Given the description of an element on the screen output the (x, y) to click on. 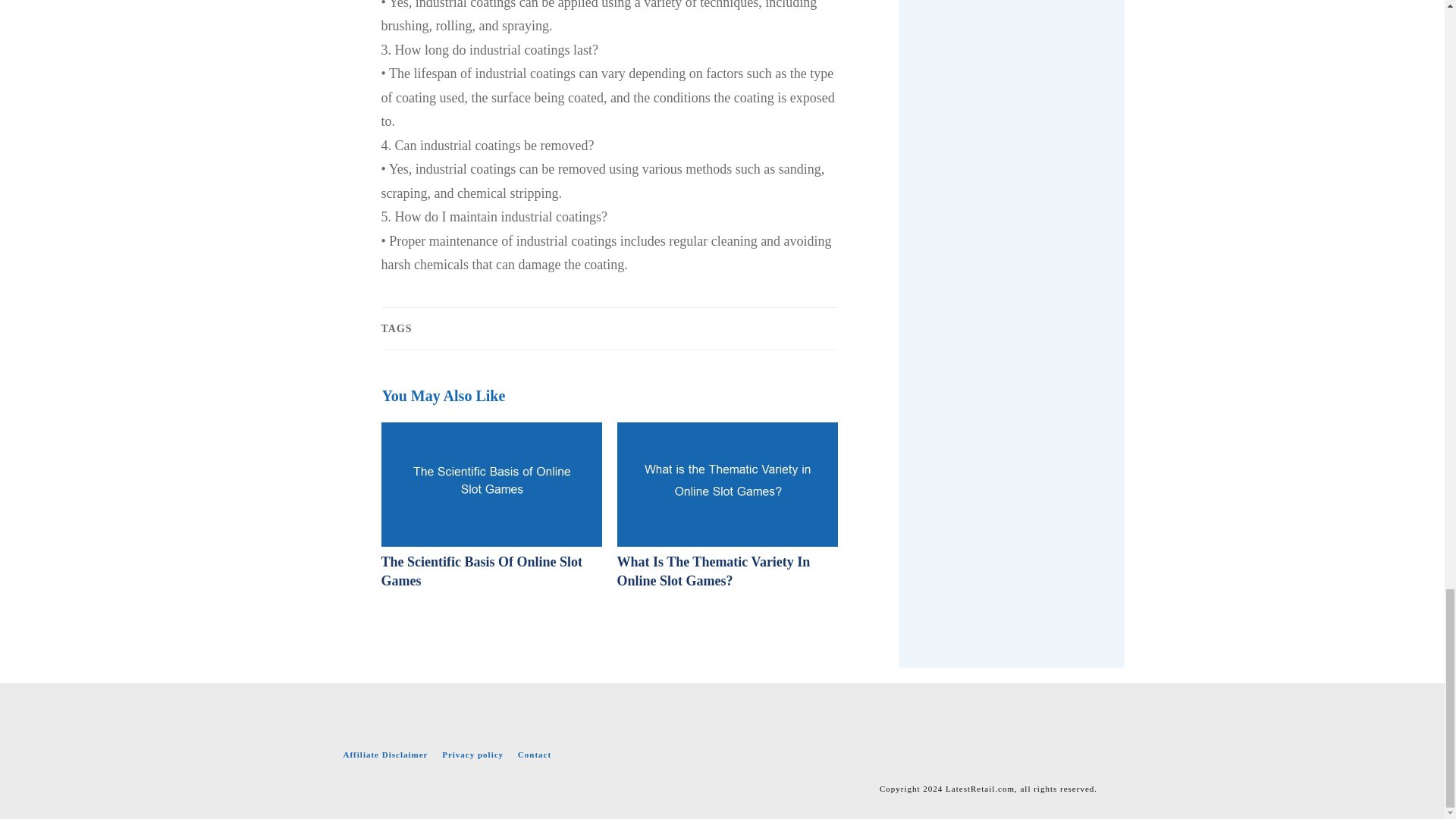
The Scientific Basis of Online Slot Games (481, 571)
What is the Thematic Variety in Online Slot Games? (713, 571)
